Given the description of an element on the screen output the (x, y) to click on. 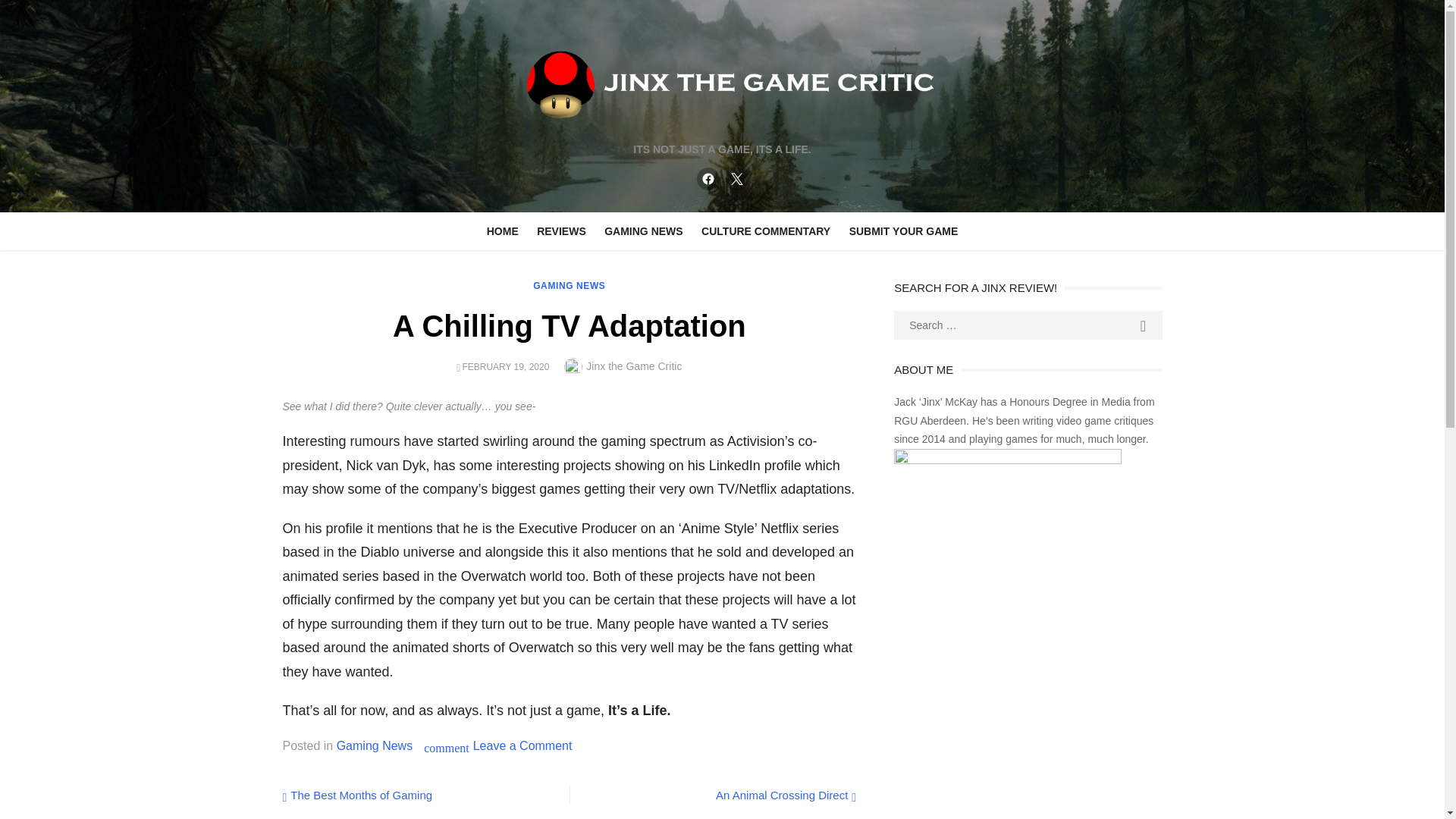
Twitter (736, 178)
REVIEWS (561, 231)
Jinx the Game Critic (633, 366)
CULTURE COMMENTARY (766, 231)
Facebook (707, 178)
GAMING NEWS (568, 285)
An Animal Crossing Direct (786, 794)
GAMING NEWS (643, 231)
Gaming News (374, 744)
HOME (502, 231)
